Given the description of an element on the screen output the (x, y) to click on. 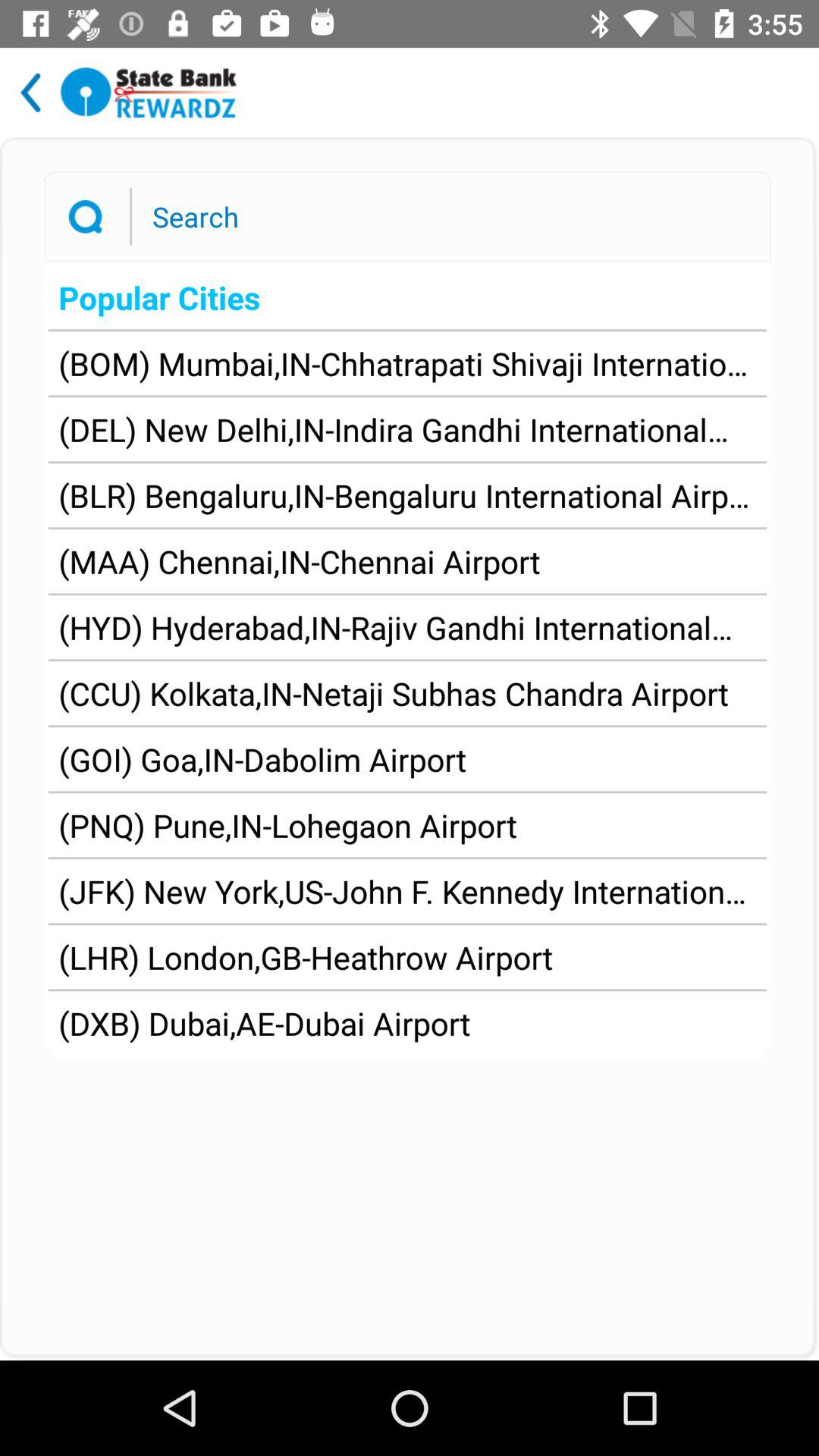
turn off popular cities item (407, 297)
